Given the description of an element on the screen output the (x, y) to click on. 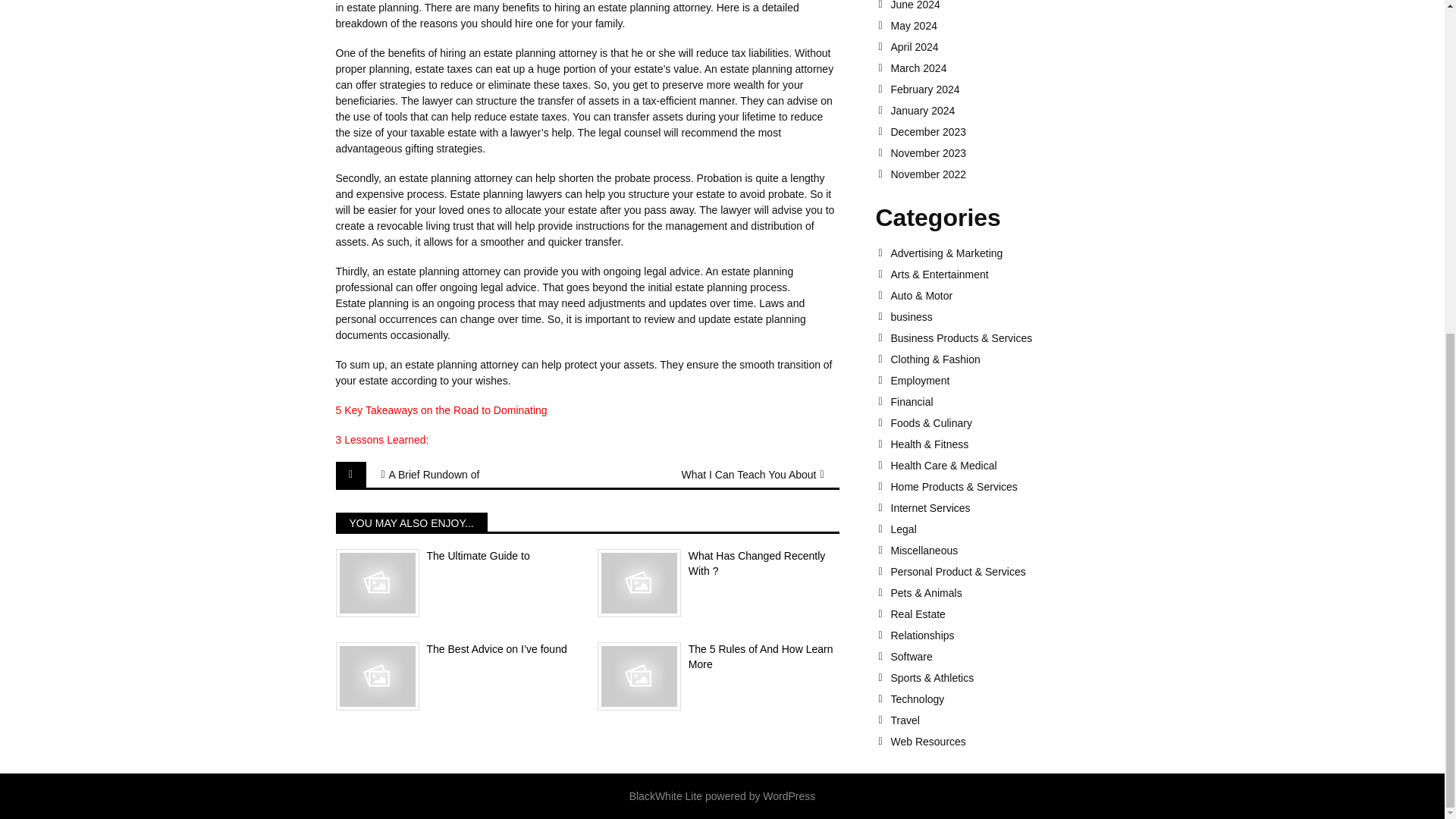
February 2024 (998, 89)
May 2024 (998, 25)
3 Lessons Learned: (381, 439)
November 2022 (998, 174)
March 2024 (998, 68)
What I Can Teach You About (739, 474)
April 2024 (998, 46)
December 2023 (998, 132)
June 2024 (998, 5)
November 2023 (998, 152)
